Given the description of an element on the screen output the (x, y) to click on. 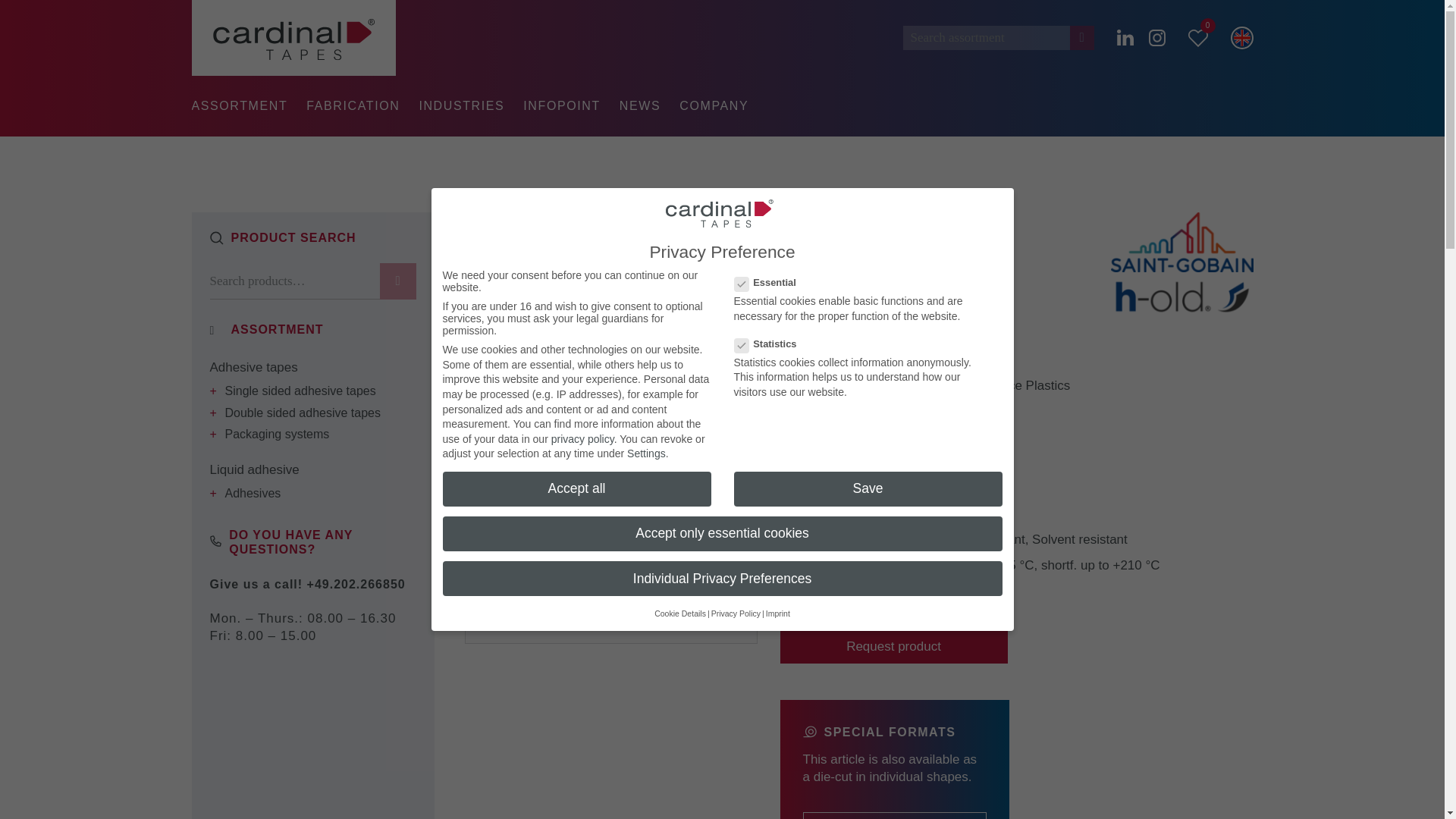
INDUSTRIES (461, 106)
ASSORTMENT (238, 106)
FABRICATION (351, 106)
infothek (560, 106)
0 (1197, 36)
